Given the description of an element on the screen output the (x, y) to click on. 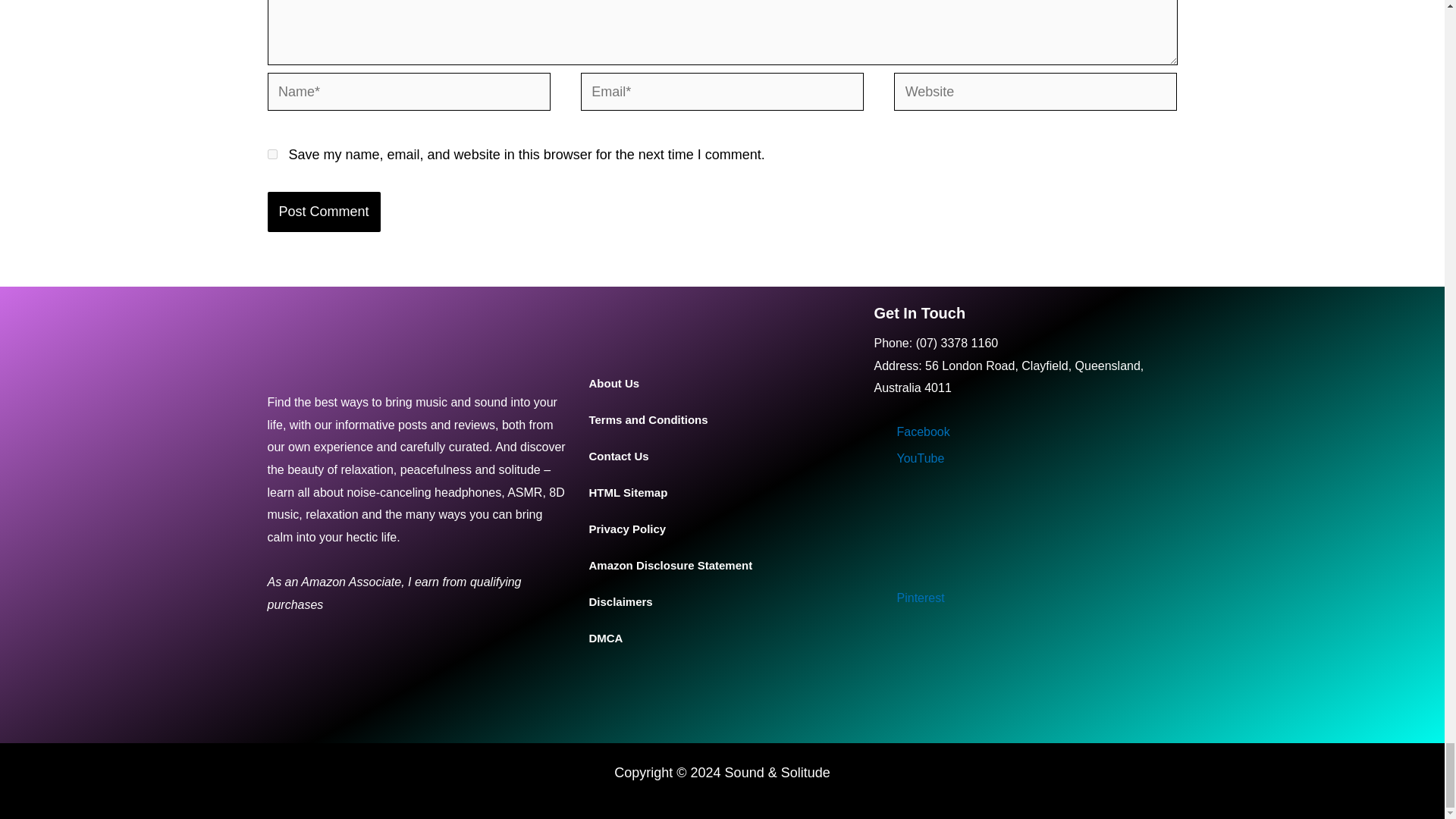
yes (271, 153)
Post Comment (323, 211)
